Given the description of an element on the screen output the (x, y) to click on. 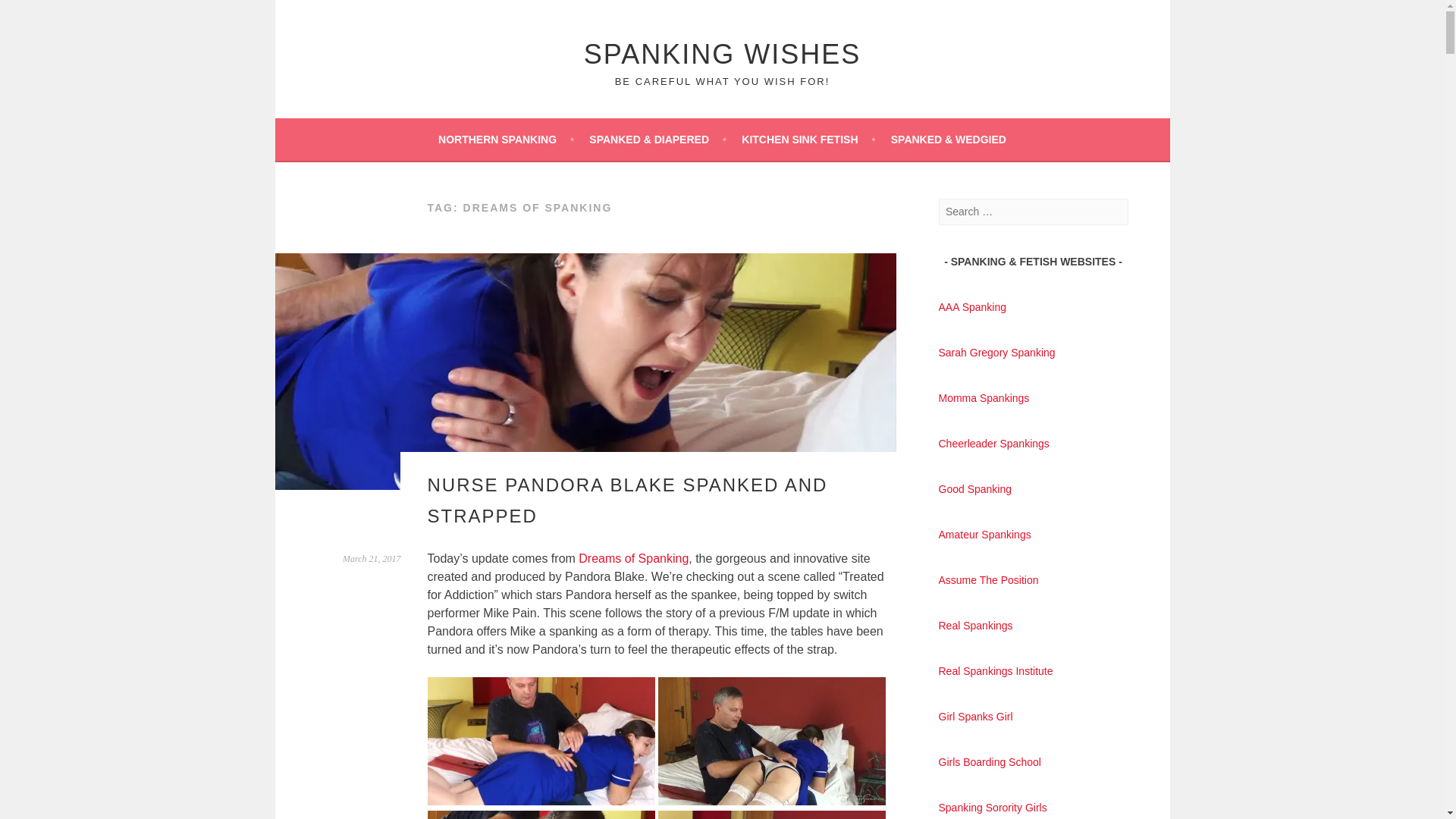
KITCHEN SINK FETISH (808, 139)
Spanking Wishes (721, 53)
SPANKING WISHES (721, 53)
Dreams of Spanking (633, 558)
NORTHERN SPANKING (505, 139)
NURSE PANDORA BLAKE SPANKED AND STRAPPED (628, 500)
March 21, 2017 (371, 558)
Permalink to Nurse Pandora Blake Spanked and Strapped (371, 558)
